Given the description of an element on the screen output the (x, y) to click on. 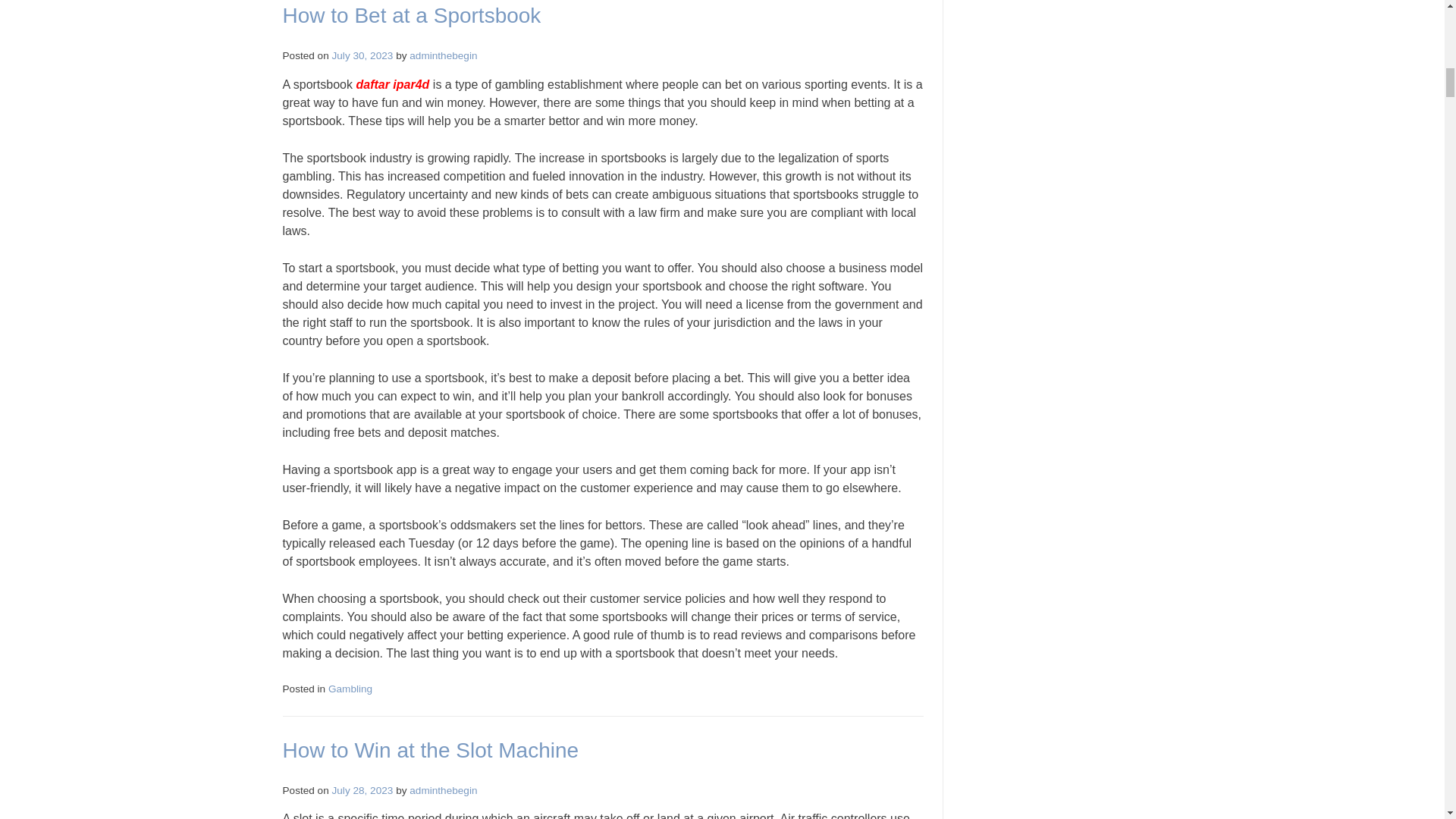
adminthebegin (443, 55)
July 28, 2023 (362, 790)
How to Win at the Slot Machine (430, 750)
daftar ipar4d (392, 83)
How to Bet at a Sportsbook (411, 15)
July 30, 2023 (362, 55)
adminthebegin (443, 790)
Gambling (350, 688)
